Given the description of an element on the screen output the (x, y) to click on. 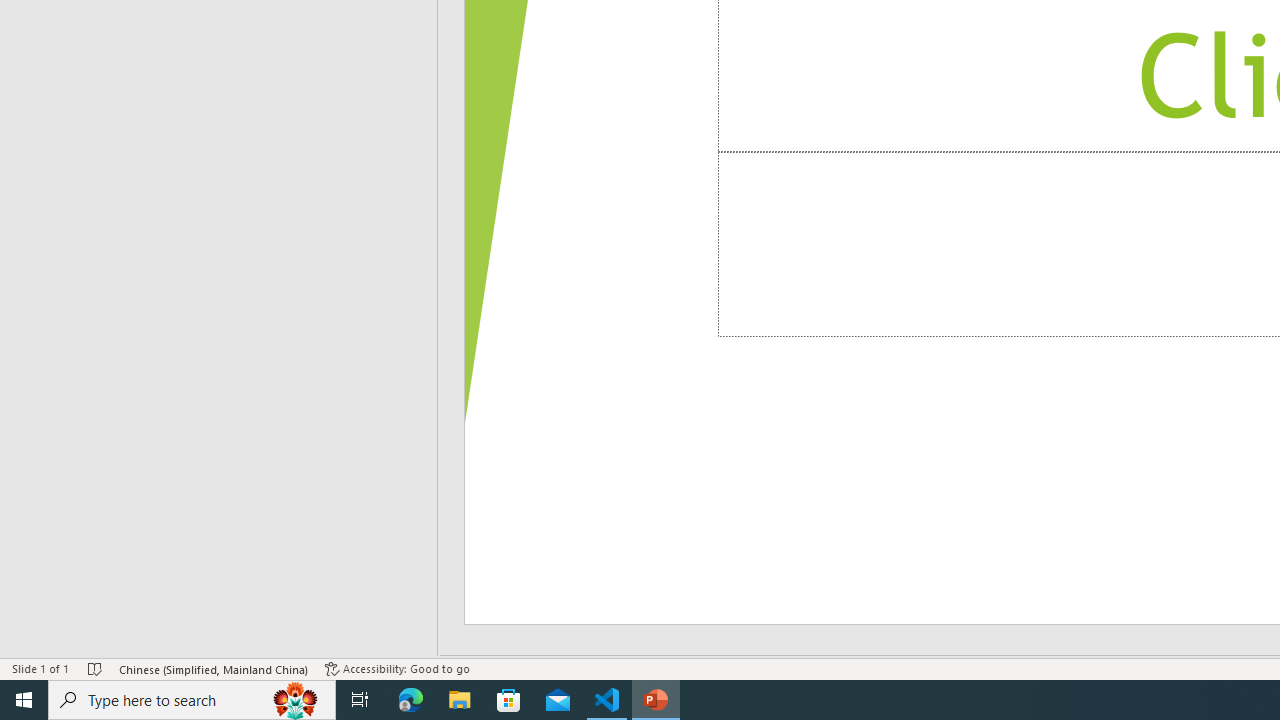
Spell Check No Errors (95, 668)
Accessibility Checker Accessibility: Good to go (397, 668)
